Given the description of an element on the screen output the (x, y) to click on. 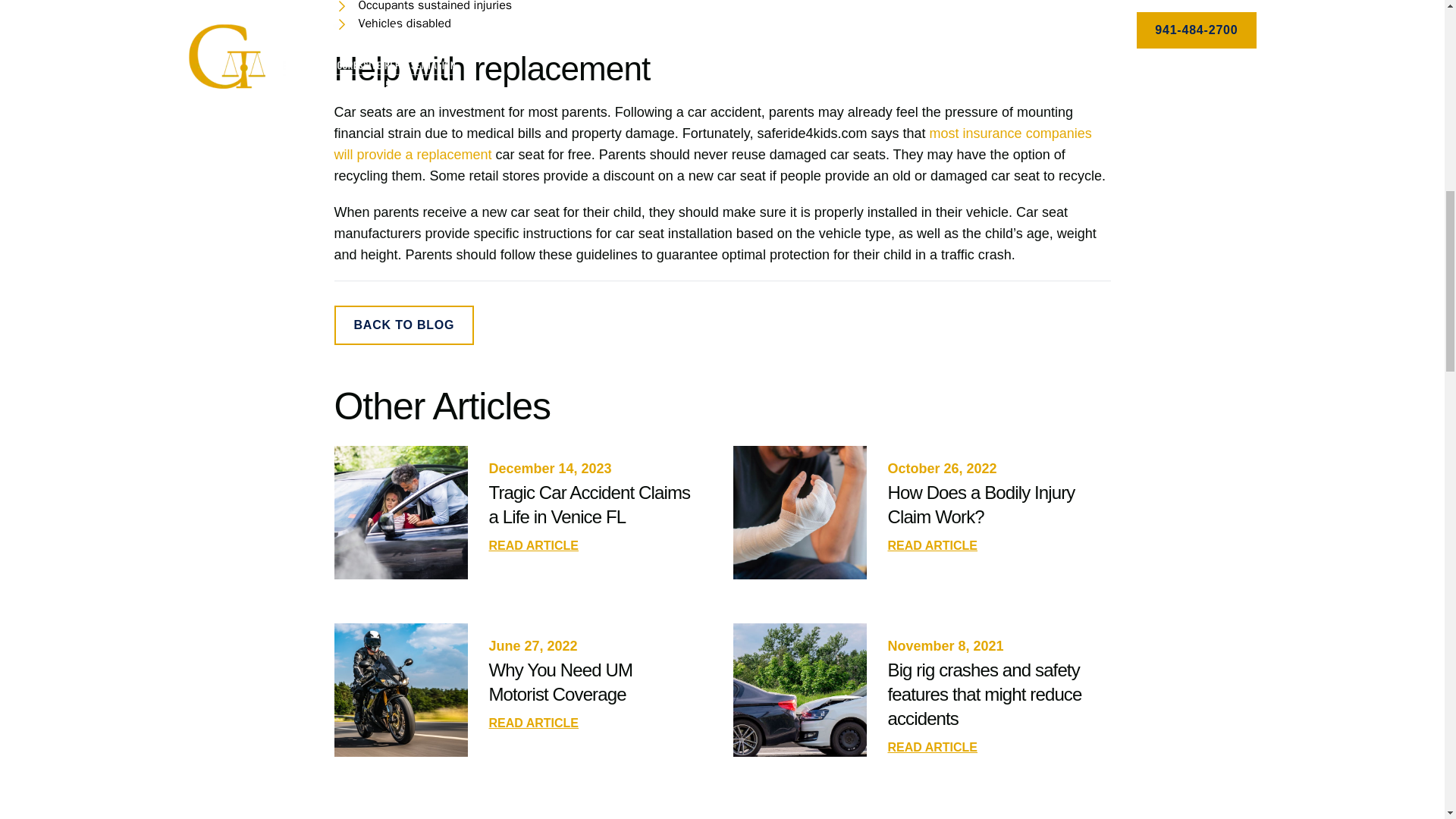
Read The Blog Post (532, 544)
Read The Blog Post (532, 721)
Read The Blog Post (931, 746)
Read The Blog Post (931, 544)
Schedule A Free Consultation (403, 324)
